Given the description of an element on the screen output the (x, y) to click on. 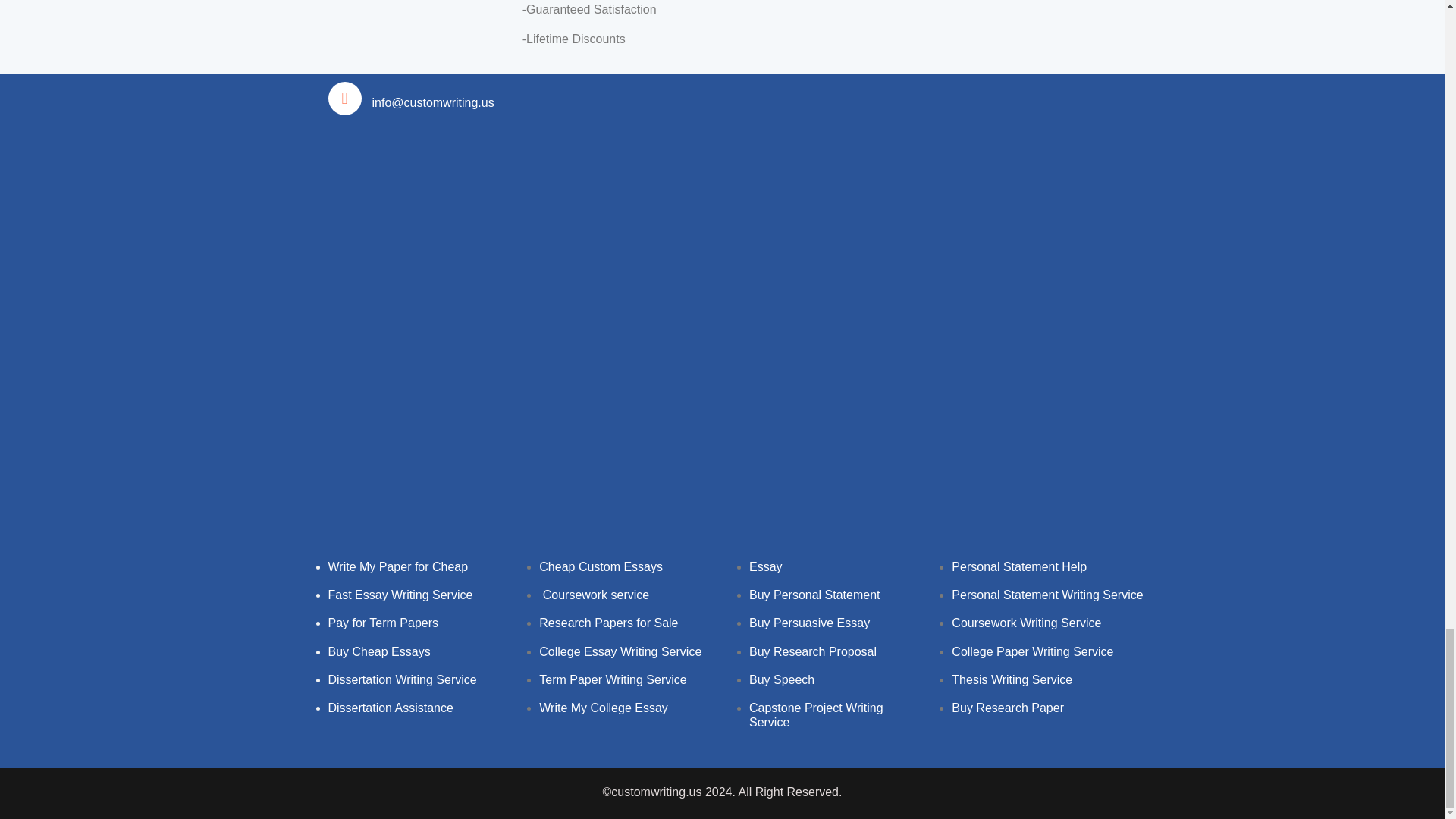
Write My Paper for Cheap (397, 566)
Fast Essay Writing Service (399, 594)
Buy Cheap Essays (378, 651)
Pay for Term Papers (382, 622)
Dissertation Writing Service (401, 679)
